Given the description of an element on the screen output the (x, y) to click on. 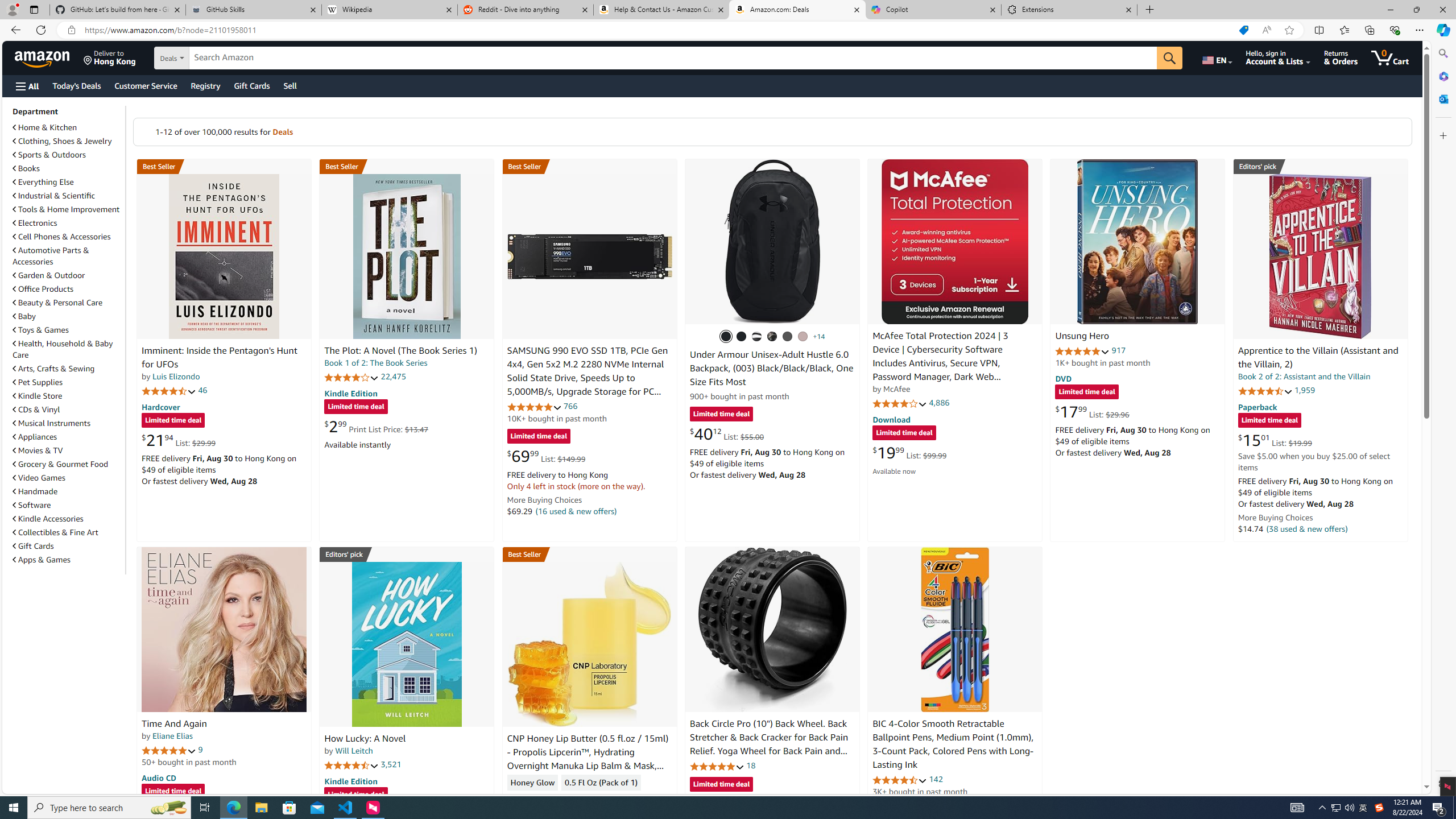
4.1 out of 5 stars (899, 403)
Toys & Games (67, 329)
9 (200, 749)
Apps & Games (41, 559)
The Plot: A Novel (The Book Series 1) (406, 256)
Audio CD (158, 777)
CDs & Vinyl (67, 409)
Unsung Hero (1082, 336)
Sports & Outdoors (49, 154)
Software (67, 505)
Kindle Store (67, 395)
